Given the description of an element on the screen output the (x, y) to click on. 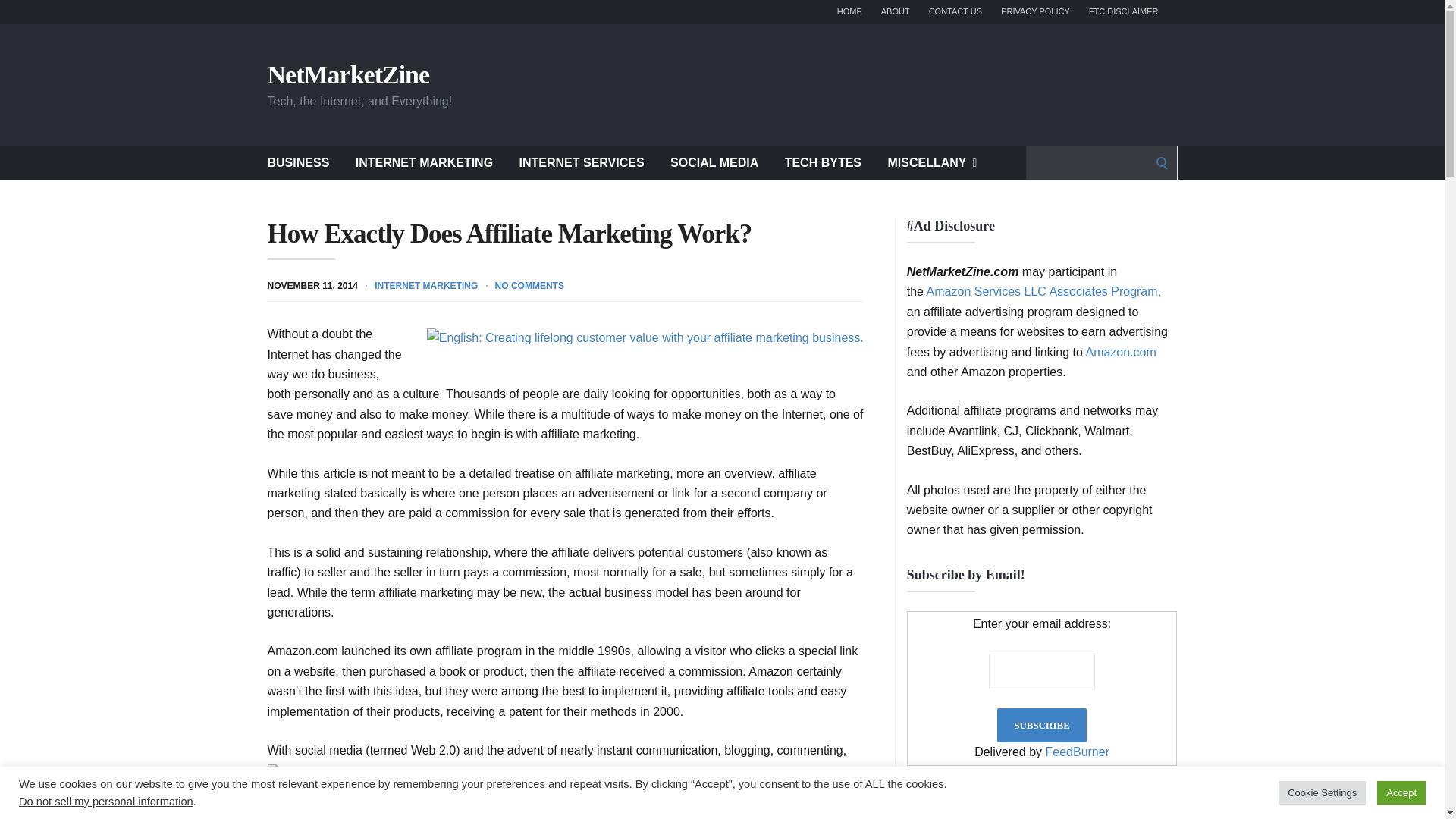
BUSINESS (297, 162)
HOME (849, 11)
MISCELLANY (931, 162)
FTC DISCLAIMER (1123, 11)
INTERNET MARKETING (425, 285)
Subscribe (1041, 725)
NetMarketZine (347, 74)
ABOUT (895, 11)
SOCIAL MEDIA (713, 162)
CONTACT US (955, 11)
PRIVACY POLICY (1035, 11)
TECH BYTES (822, 162)
NO COMMENTS (529, 285)
INTERNET MARKETING (424, 162)
